Given the description of an element on the screen output the (x, y) to click on. 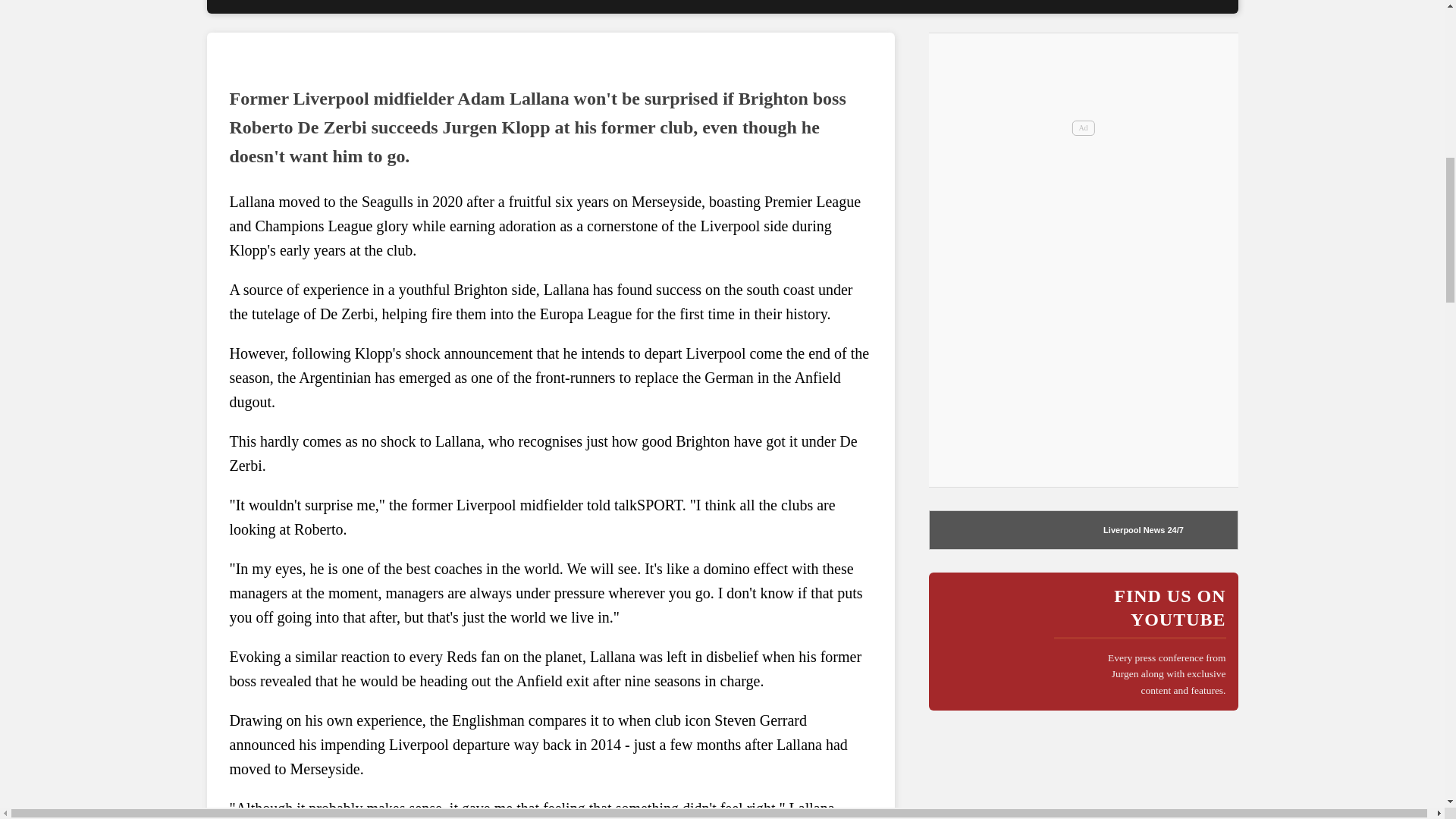
Click here for more Liverpool news from NewsNow (1133, 529)
Click here for more Liverpool news from NewsNow (1173, 529)
Click here for more Liverpool news from NewsNow (990, 529)
